Given the description of an element on the screen output the (x, y) to click on. 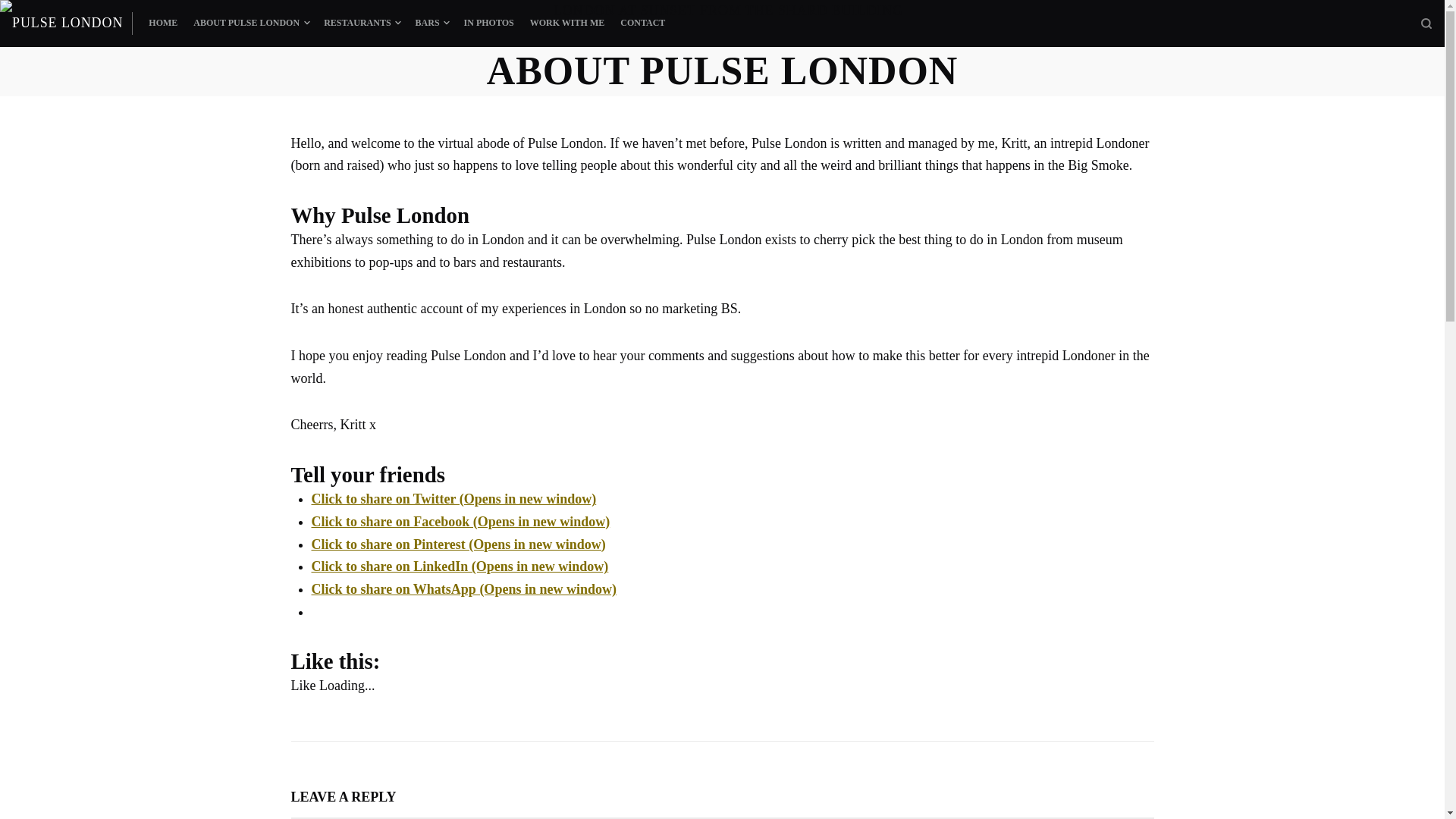
OPEN A SEARCH FORM IN A MODAL WINDOW (1426, 23)
WORK WITH ME (566, 23)
Click to share on Facebook (460, 521)
RESTAURANTS (358, 23)
Click to share on LinkedIn (459, 566)
BARS (428, 23)
Click to share on Pinterest (458, 544)
HOME (162, 23)
Click to share on Twitter (453, 498)
PULSE LONDON (66, 22)
